Given the description of an element on the screen output the (x, y) to click on. 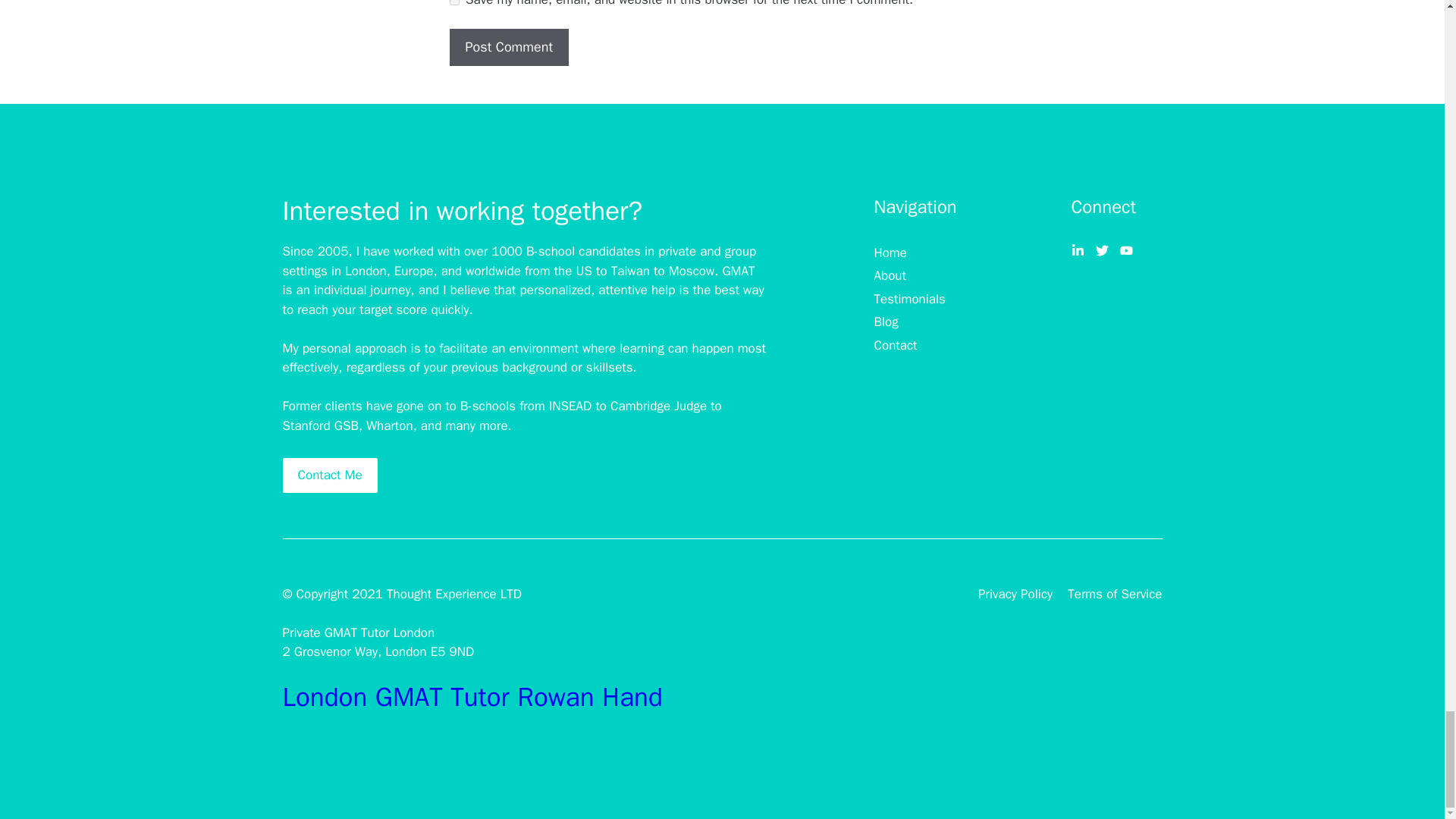
Testimonials (908, 299)
yes (453, 2)
Post Comment (508, 47)
Home (889, 252)
Contact Me (329, 475)
Post Comment (508, 47)
About (889, 275)
